Given the description of an element on the screen output the (x, y) to click on. 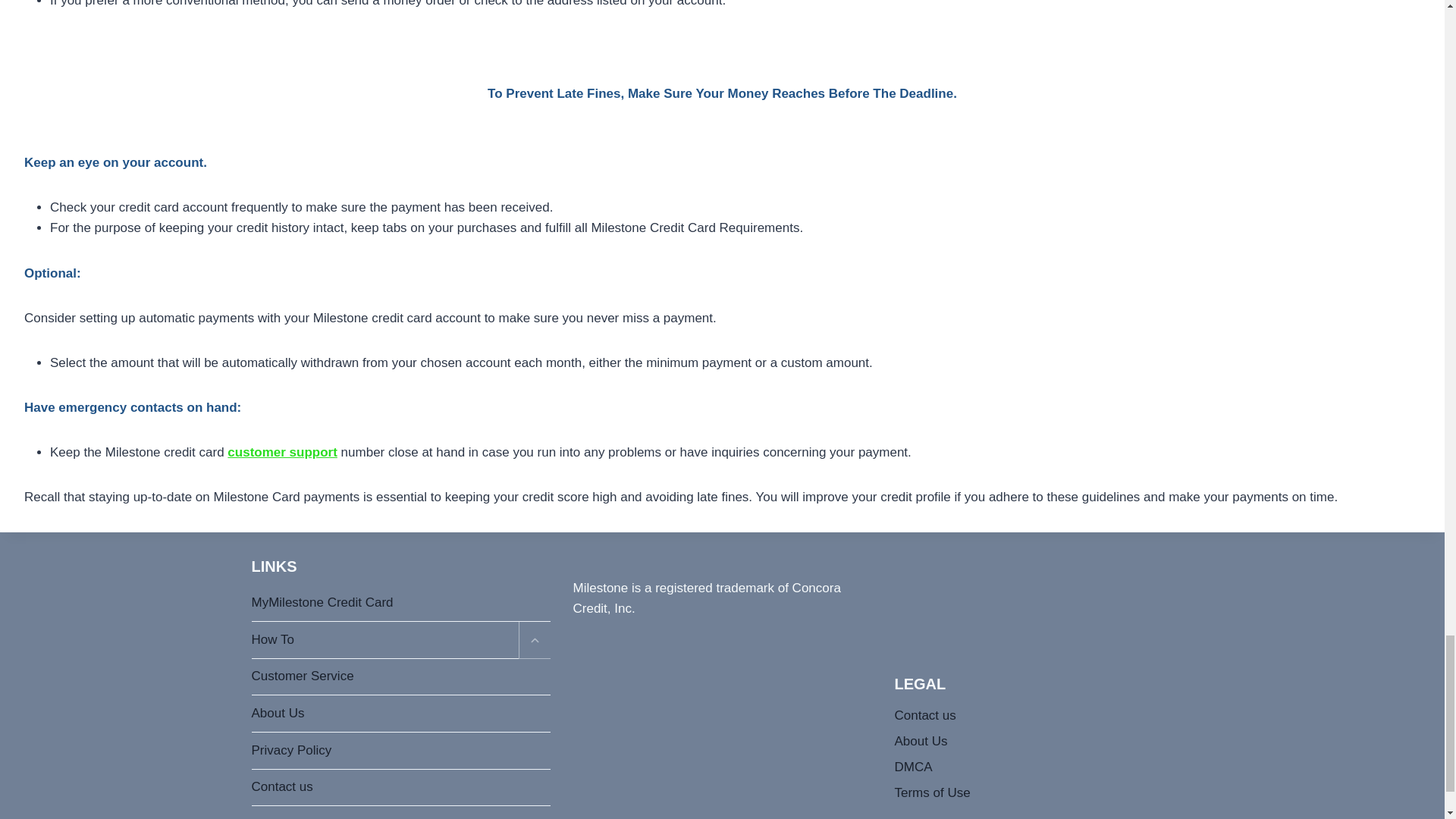
About Us (400, 713)
About Us (1044, 741)
Privacy Policy (400, 750)
customer support (282, 452)
How To (384, 640)
Contact us (1044, 715)
DMCA (1044, 767)
MyMilestone Credit Card (400, 603)
Contact us (400, 787)
Customer Service (400, 677)
